Given the description of an element on the screen output the (x, y) to click on. 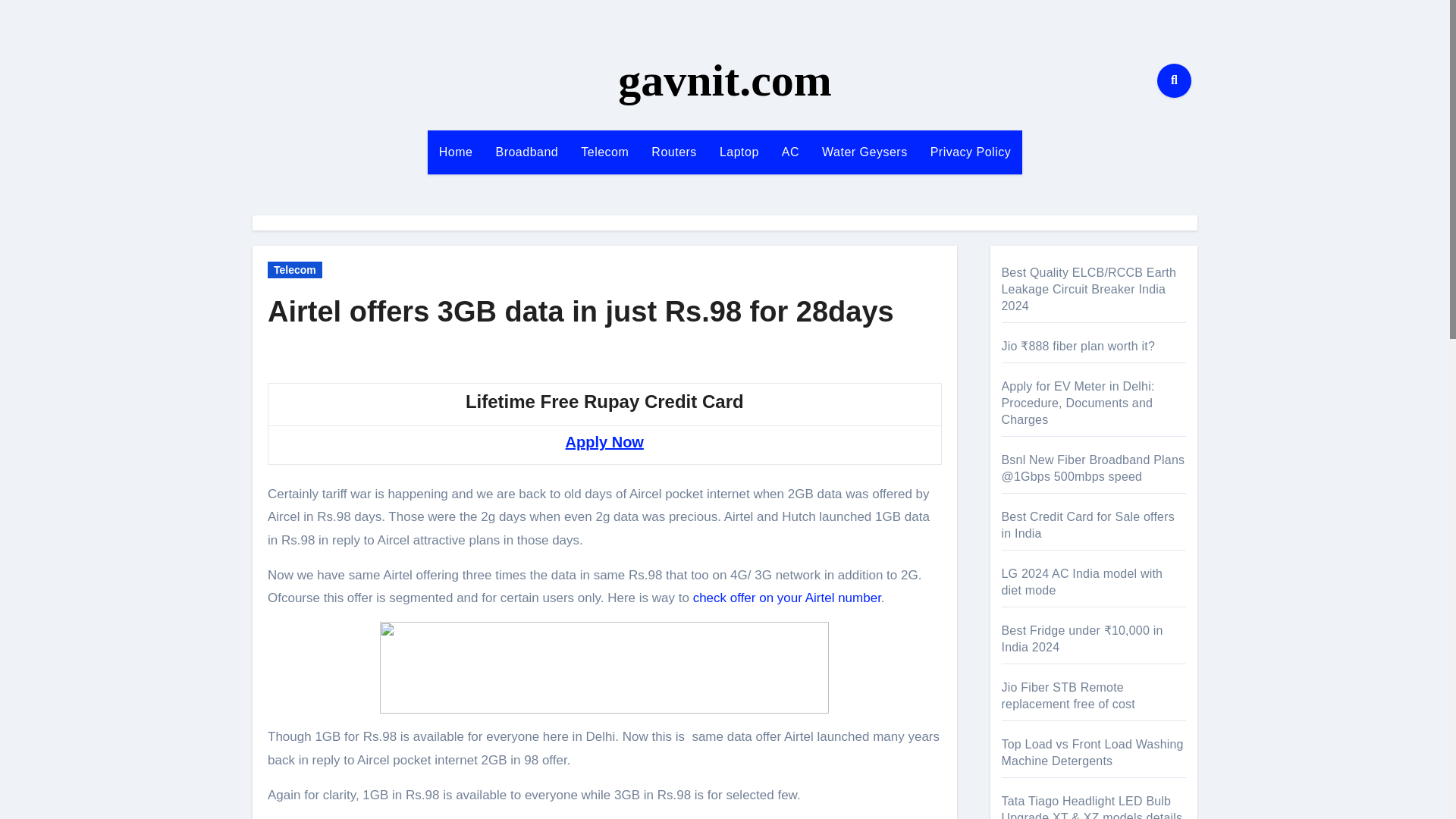
Broadband (526, 152)
Telecom (604, 152)
Water Geysers (864, 152)
Telecom (294, 269)
AC (790, 152)
Privacy Policy (970, 152)
Routers (673, 152)
check offer on your Airtel number (786, 597)
Apply Now (604, 442)
Laptop (738, 152)
Routers (673, 152)
Airtel offers 3GB data in just Rs.98 for 28days (580, 311)
AC (790, 152)
